Given the description of an element on the screen output the (x, y) to click on. 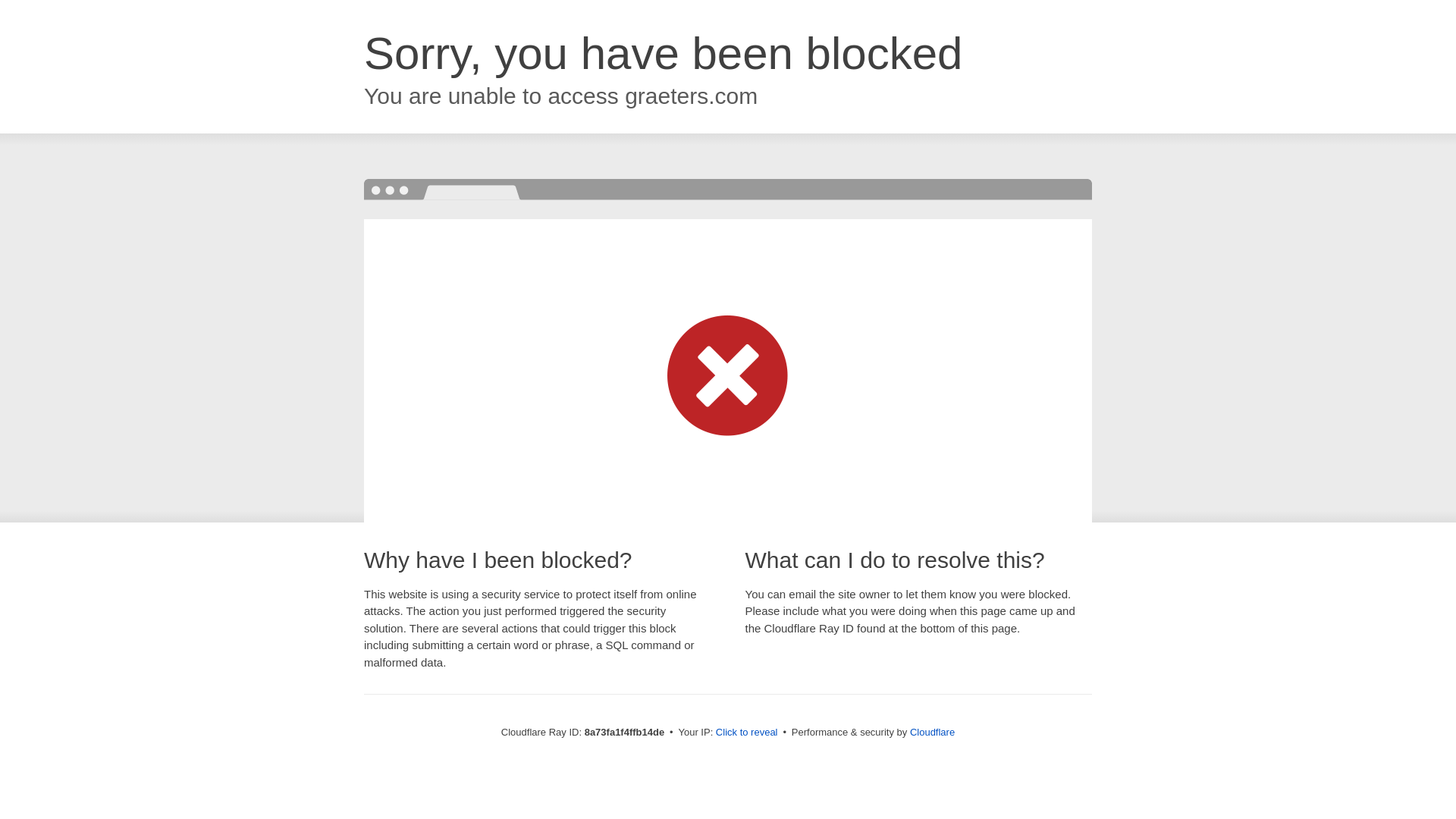
Click to reveal (746, 732)
Cloudflare (932, 731)
